Given the description of an element on the screen output the (x, y) to click on. 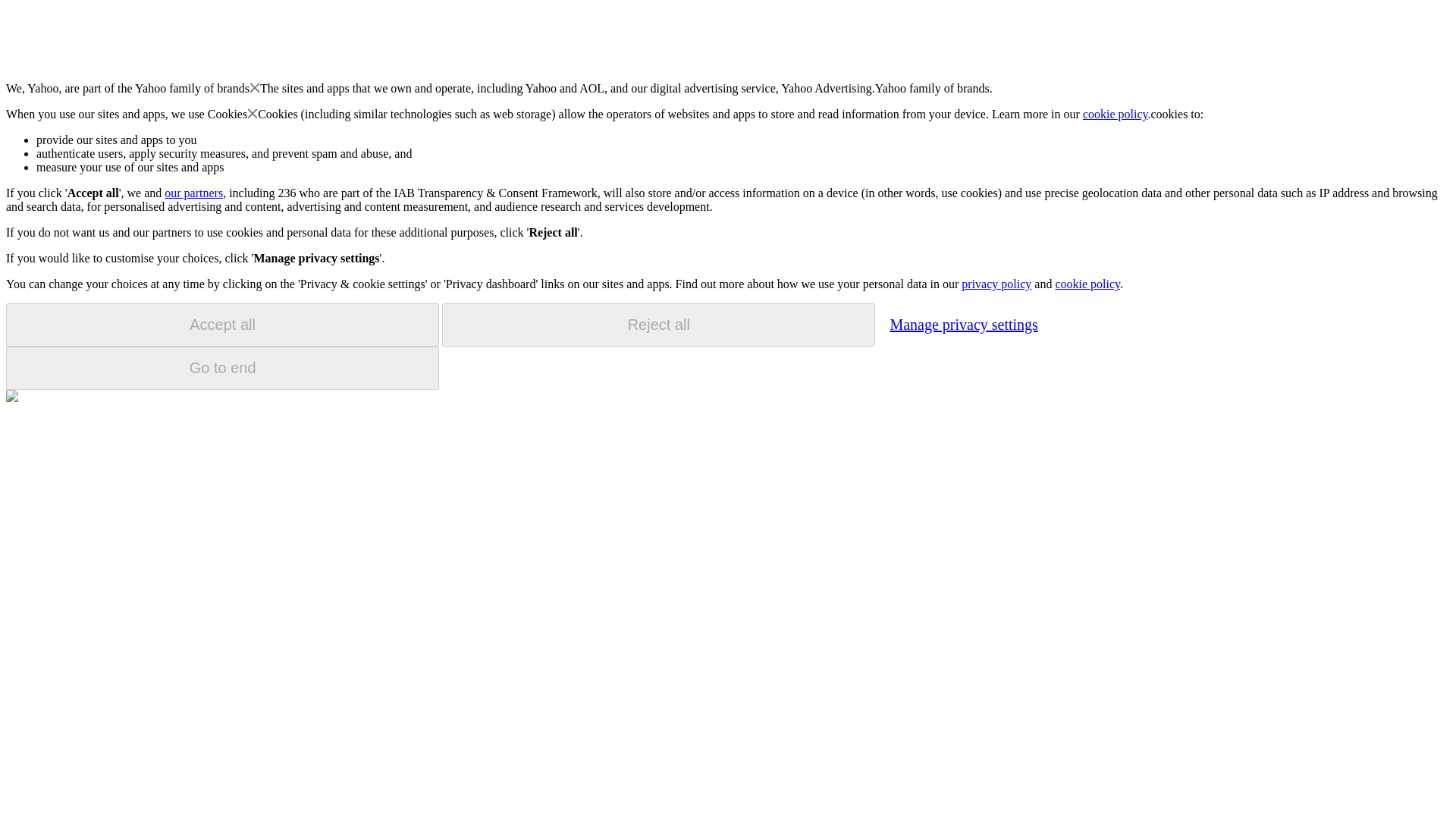
privacy policy (995, 283)
cookie policy (1115, 113)
Go to end (222, 367)
cookie policy (1086, 283)
Reject all (658, 324)
Accept all (222, 324)
Manage privacy settings (963, 323)
our partners (193, 192)
